Given the description of an element on the screen output the (x, y) to click on. 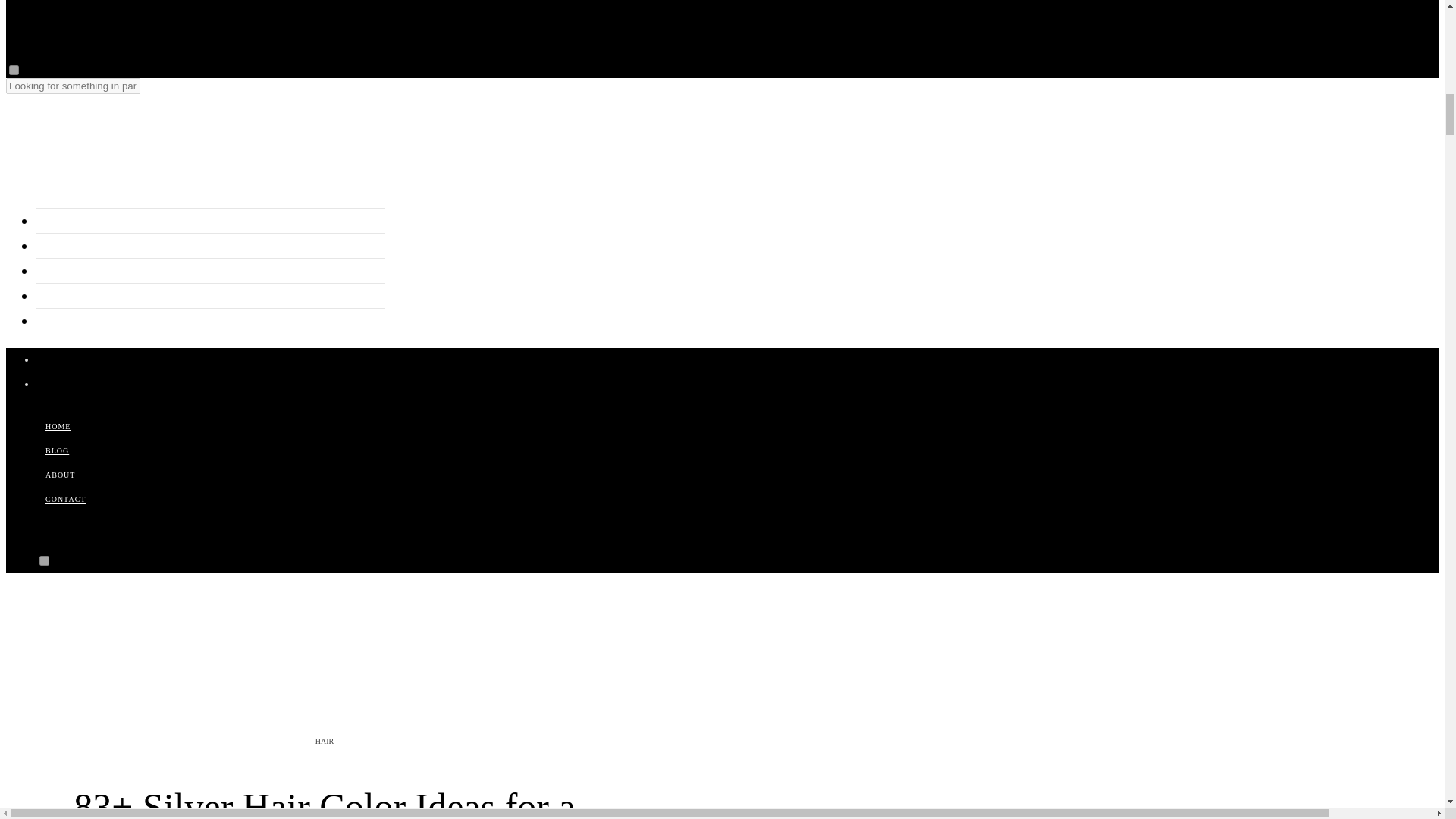
About (52, 271)
CONTACT (65, 498)
HAIR (324, 741)
ABOUT (60, 474)
BLOG (57, 450)
HOME (58, 426)
on (44, 560)
Privacy Policy (76, 321)
Blog (49, 246)
Home (52, 221)
Contact (57, 296)
on (13, 70)
